Given the description of an element on the screen output the (x, y) to click on. 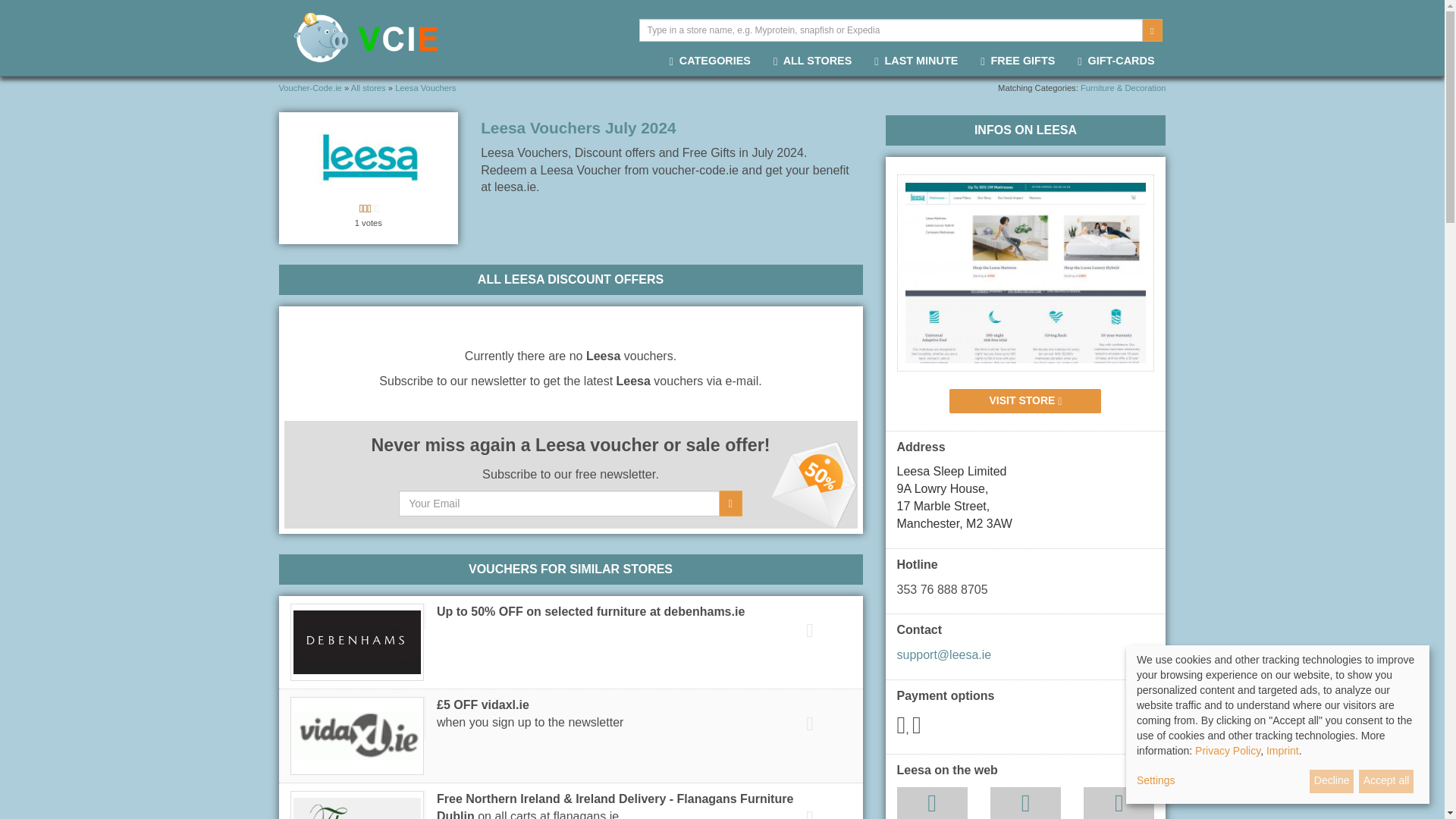
 FREE GIFTS (1017, 62)
 GIFT-CARDS (1115, 62)
 CATEGORIES (709, 62)
Leesa Vouchers (424, 87)
 LAST MINUTE (916, 62)
All stores (369, 87)
 ALL STORES (812, 62)
Voucher-Code.ie (311, 87)
